Given the description of an element on the screen output the (x, y) to click on. 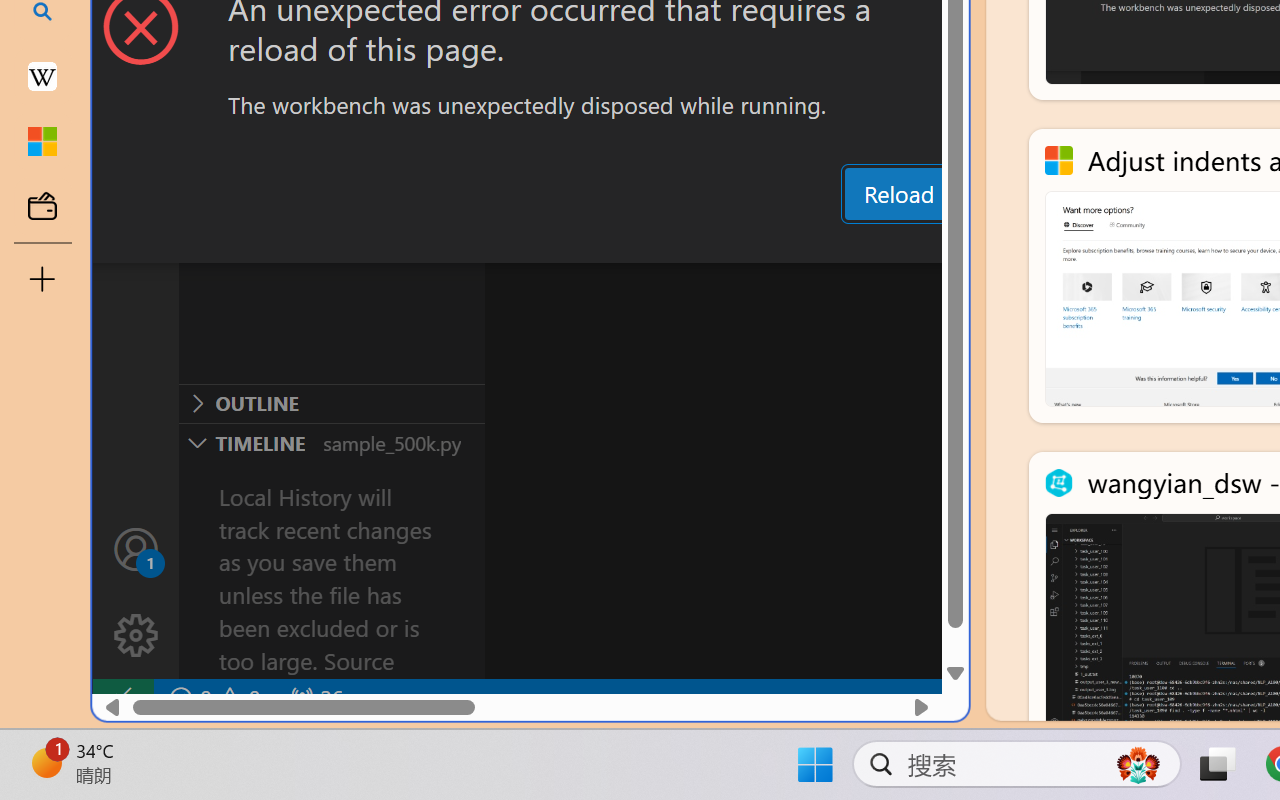
No Problems (212, 698)
Earth - Wikipedia (42, 75)
Debug Console (Ctrl+Shift+Y) (854, 243)
Manage (135, 635)
remote (122, 698)
Outline Section (331, 403)
Manage (135, 591)
Timeline Section (331, 442)
Reload (898, 193)
Output (Ctrl+Shift+U) (696, 243)
